Given the description of an element on the screen output the (x, y) to click on. 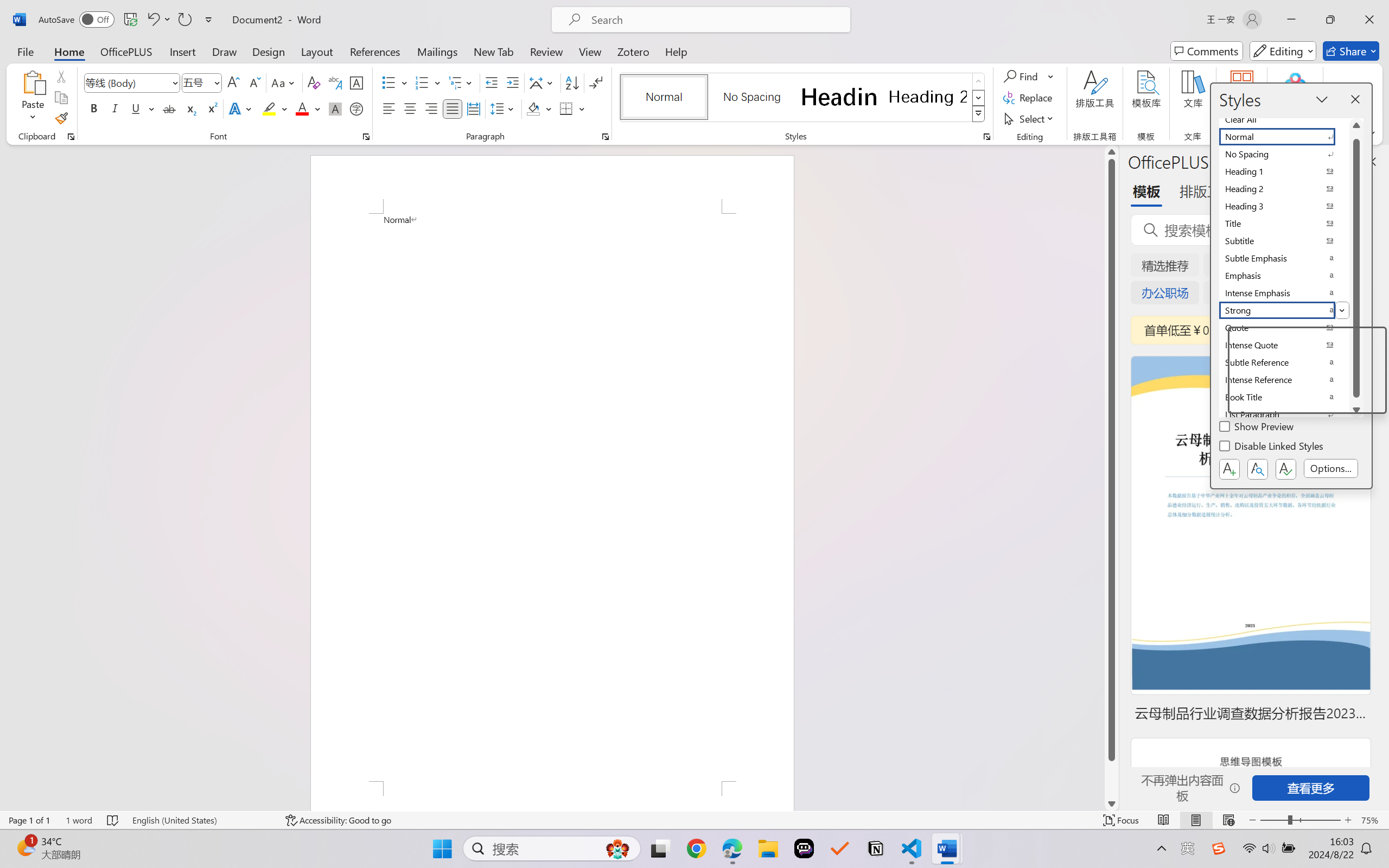
Intense Quote (1283, 345)
Insert (182, 51)
Minimize (1291, 19)
Zoom In (1348, 819)
Styles... (986, 136)
Phonetic Guide... (334, 82)
Subscript (190, 108)
Open (215, 82)
Paste (33, 97)
Normal (1283, 136)
Text Highlight Color Yellow (269, 108)
